Given the description of an element on the screen output the (x, y) to click on. 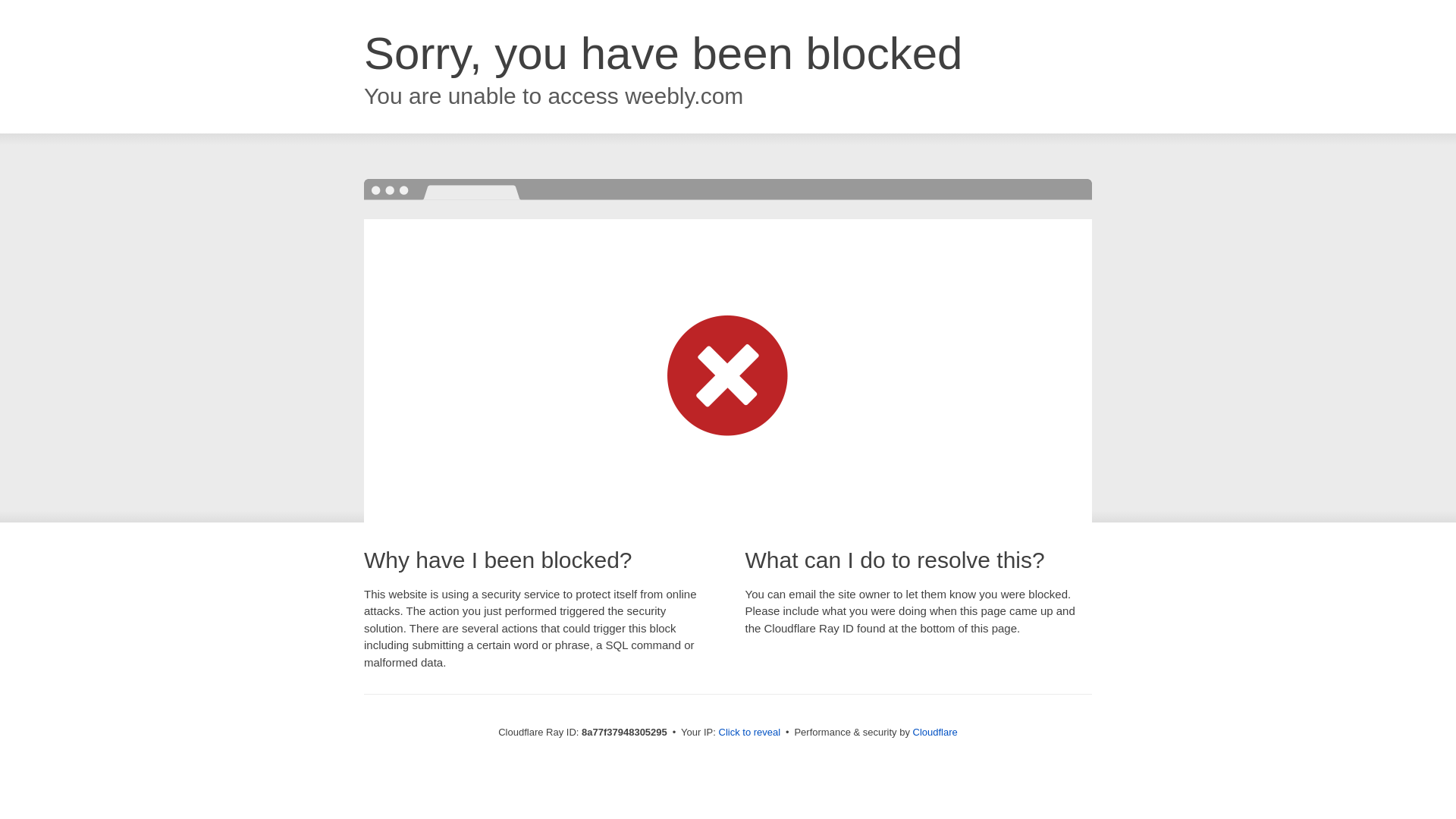
Click to reveal (749, 732)
Cloudflare (935, 731)
